Given the description of an element on the screen output the (x, y) to click on. 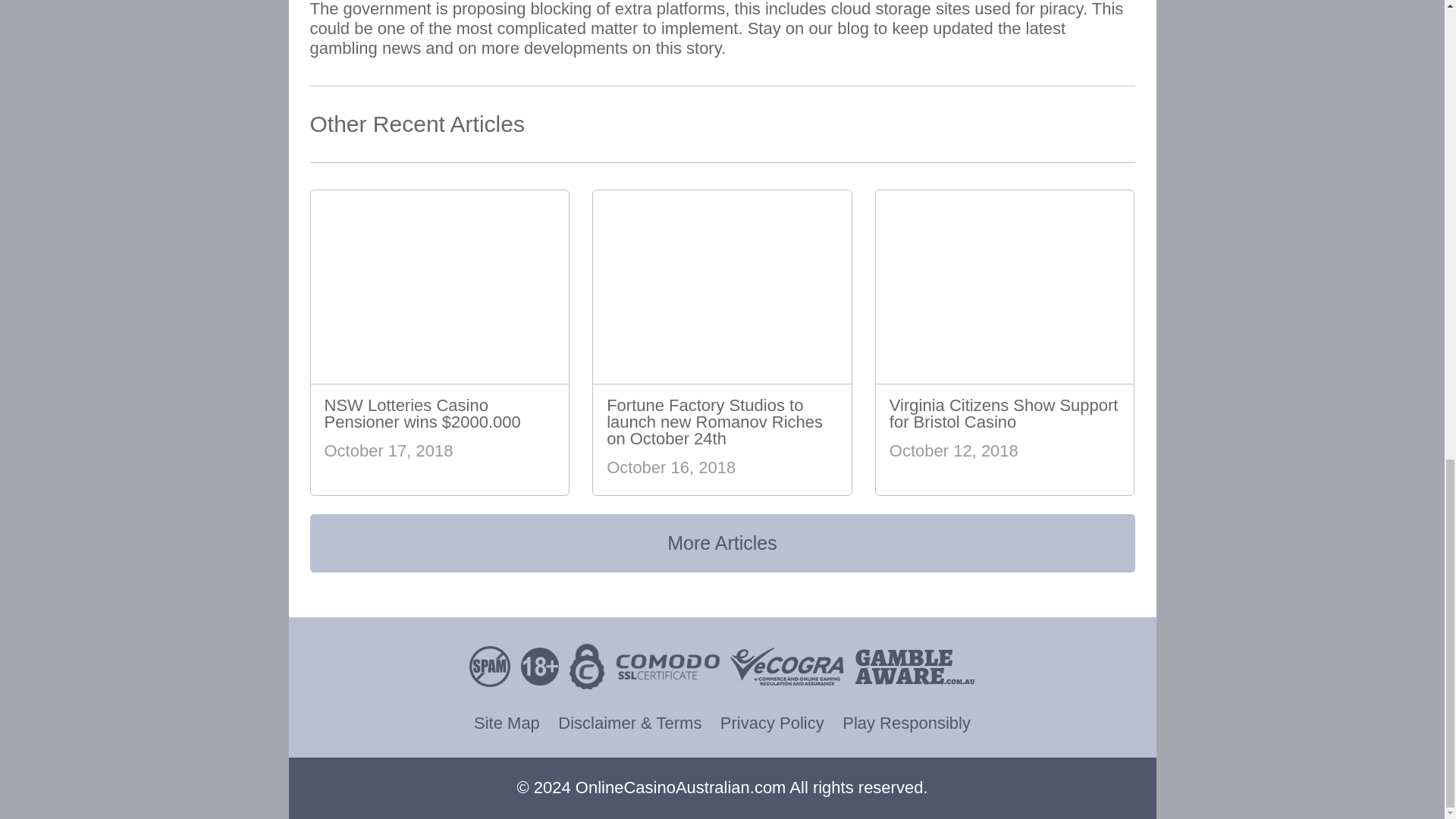
Privacy Policy (772, 723)
Play Responsibly (907, 723)
Privacy Policy (772, 723)
Site Map (507, 723)
More Articles (721, 543)
OnlineCasinoAustralian.com (680, 787)
Site Map (507, 723)
Play Responsibly (907, 723)
